Given the description of an element on the screen output the (x, y) to click on. 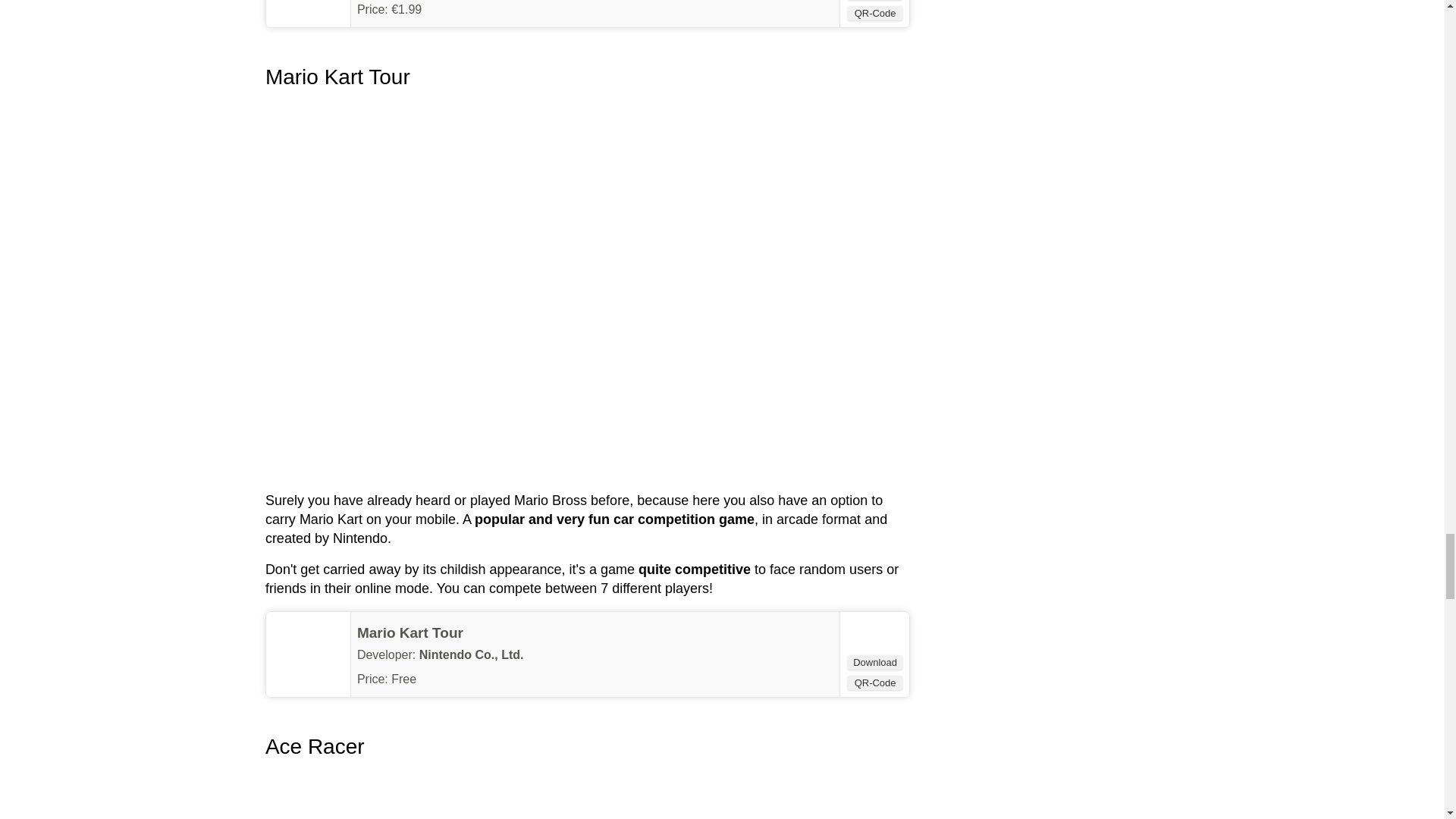
Mario Kart Tour (409, 632)
Nintendo Co., Ltd. (471, 654)
Download (874, 662)
